Given the description of an element on the screen output the (x, y) to click on. 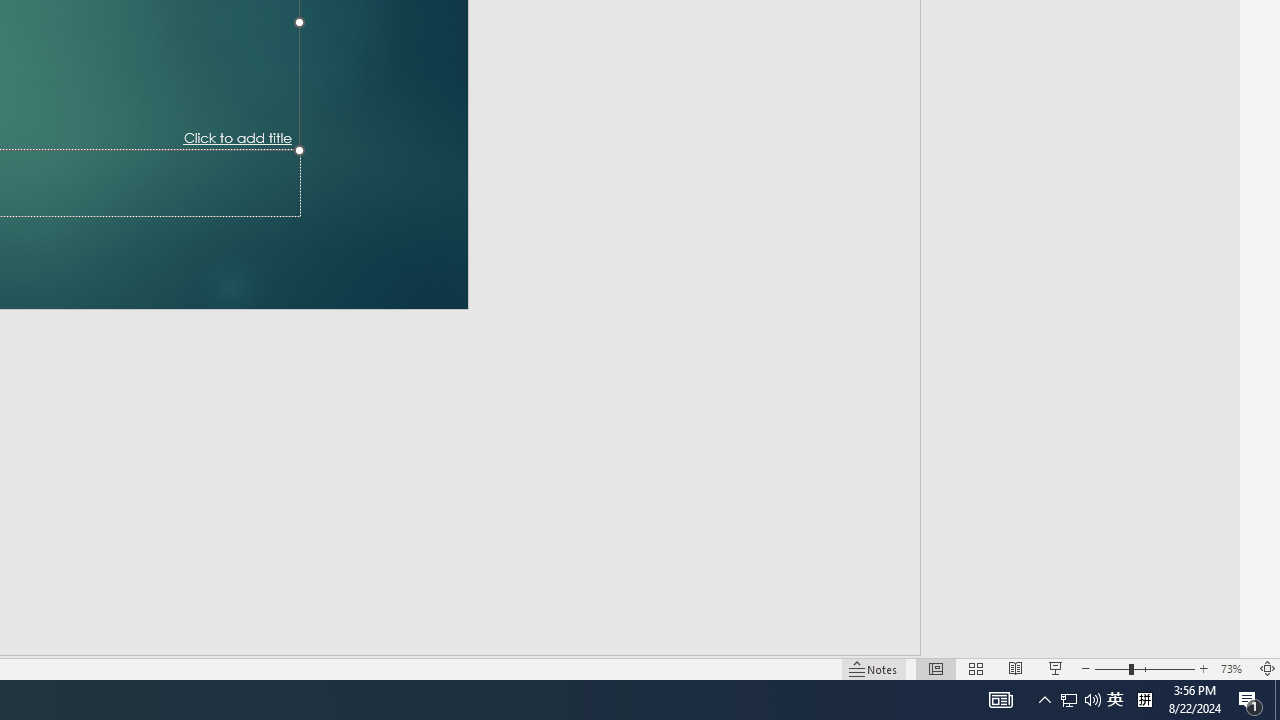
Zoom 73% (1234, 668)
